Given the description of an element on the screen output the (x, y) to click on. 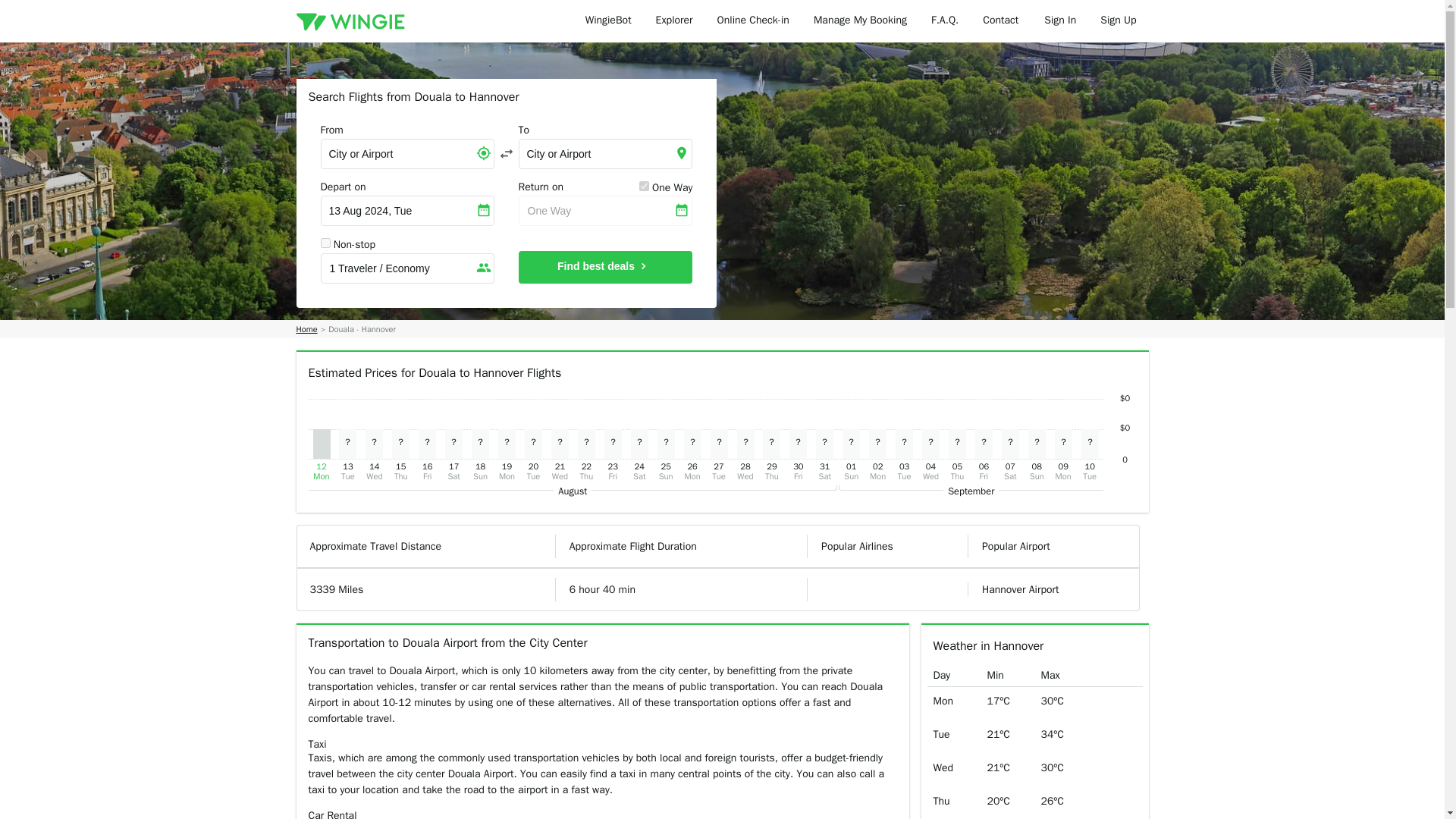
F.A.Q. (944, 21)
Online Check-in (753, 21)
Explorer (673, 21)
Find best deals (605, 266)
WingieBot (608, 21)
Home (306, 328)
Manage My Booking (860, 21)
false (325, 243)
on (644, 185)
Home (306, 328)
